Given the description of an element on the screen output the (x, y) to click on. 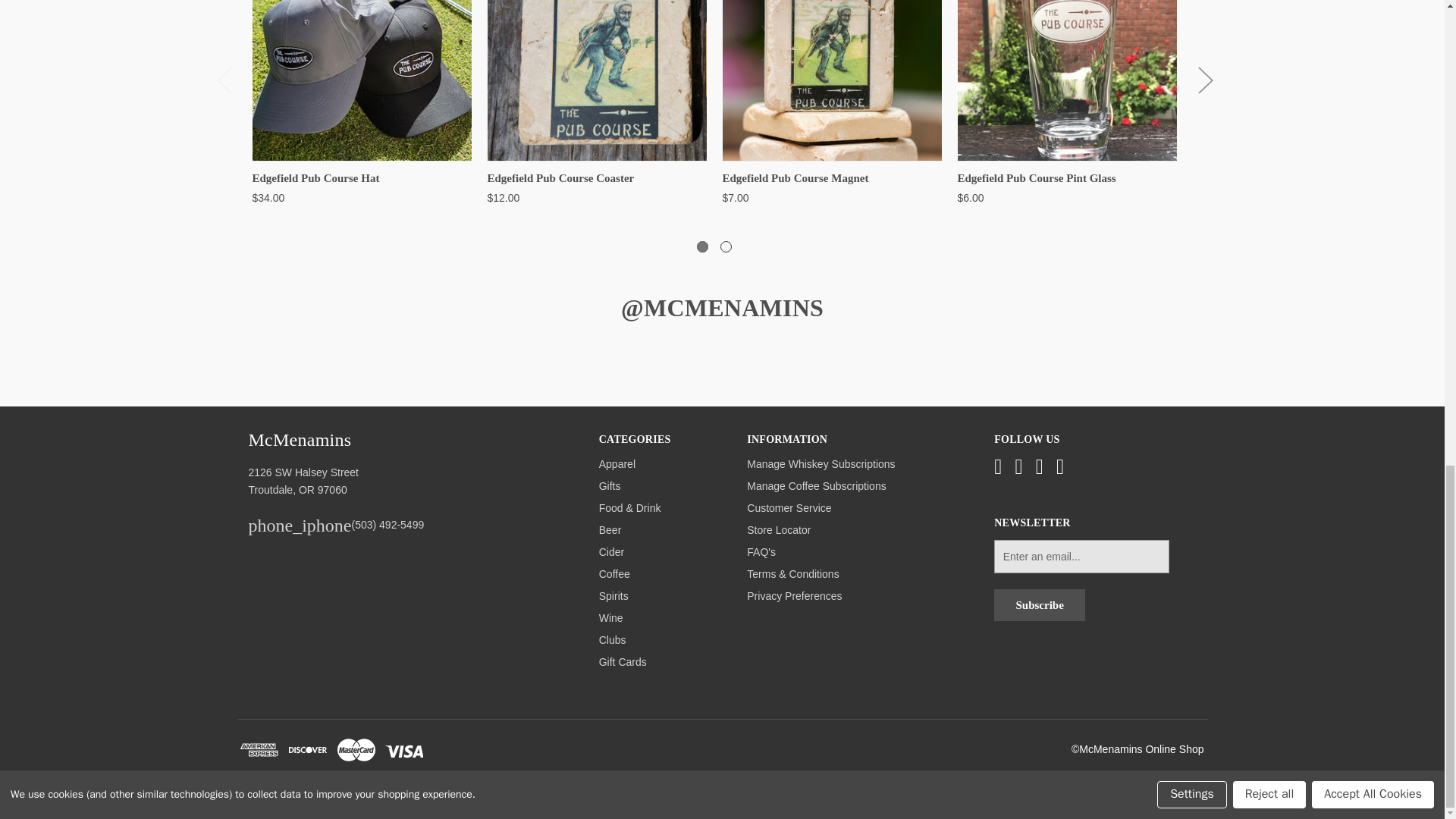
Edgefield Pub Course Hat (360, 80)
Edgefield Pub Course Magnet (831, 80)
Edgefield Pub Course Pint Glass (1066, 80)
Edgefield Pub Course Coaster (596, 80)
